Given the description of an element on the screen output the (x, y) to click on. 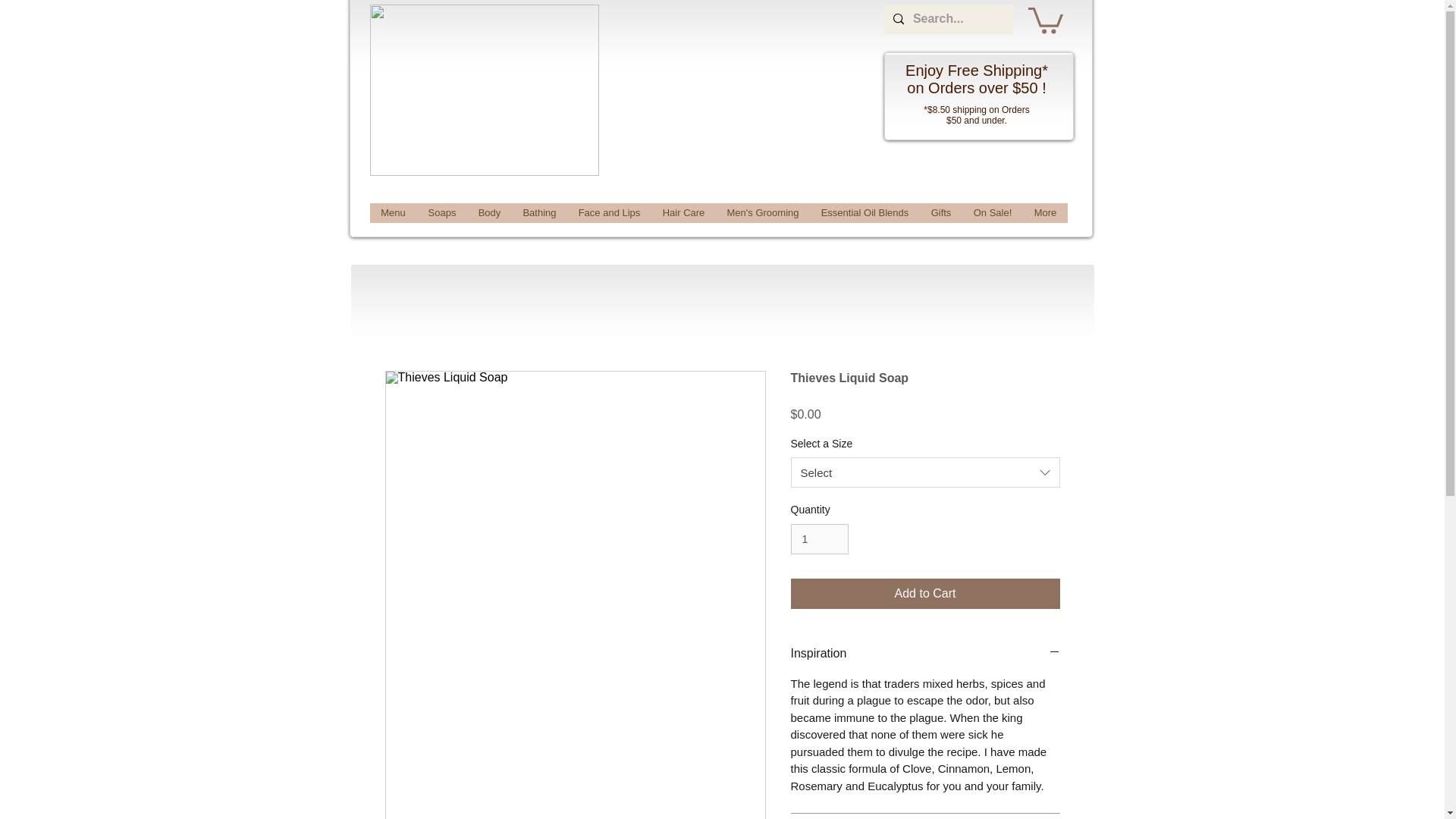
1 (818, 539)
On Sale! (991, 212)
Menu (392, 212)
